Given the description of an element on the screen output the (x, y) to click on. 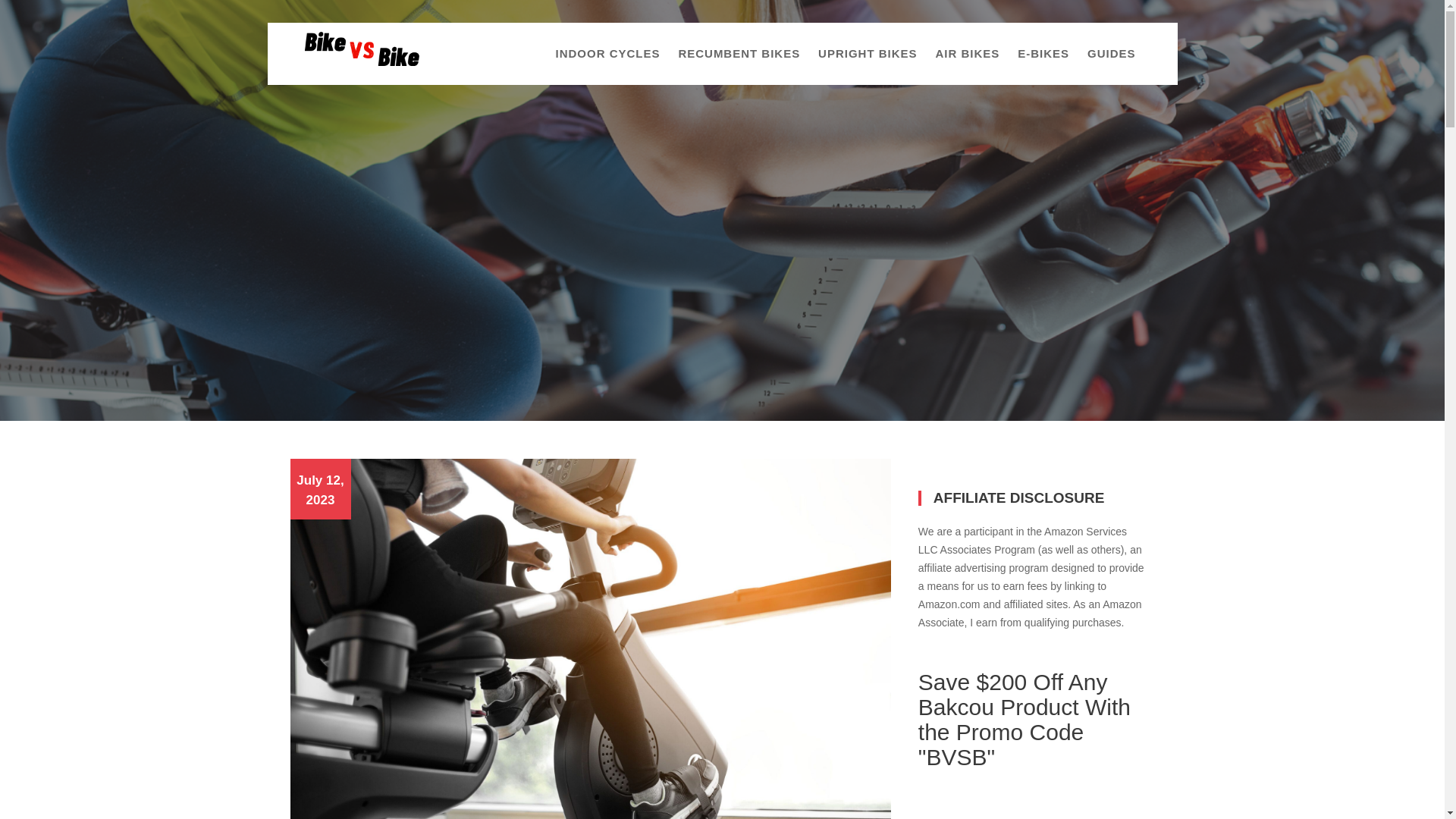
July 12, 2023 (320, 489)
RECUMBENT BIKES (738, 53)
AIR BIKES (967, 53)
E-BIKES (1043, 53)
Affiliate Disclosure (1018, 794)
UPRIGHT BIKES (867, 53)
About Will (934, 794)
INDOOR CYCLES (606, 53)
GUIDES (1111, 53)
Privacy Policy (1113, 794)
Recumbent Bikes (305, 489)
